Given the description of an element on the screen output the (x, y) to click on. 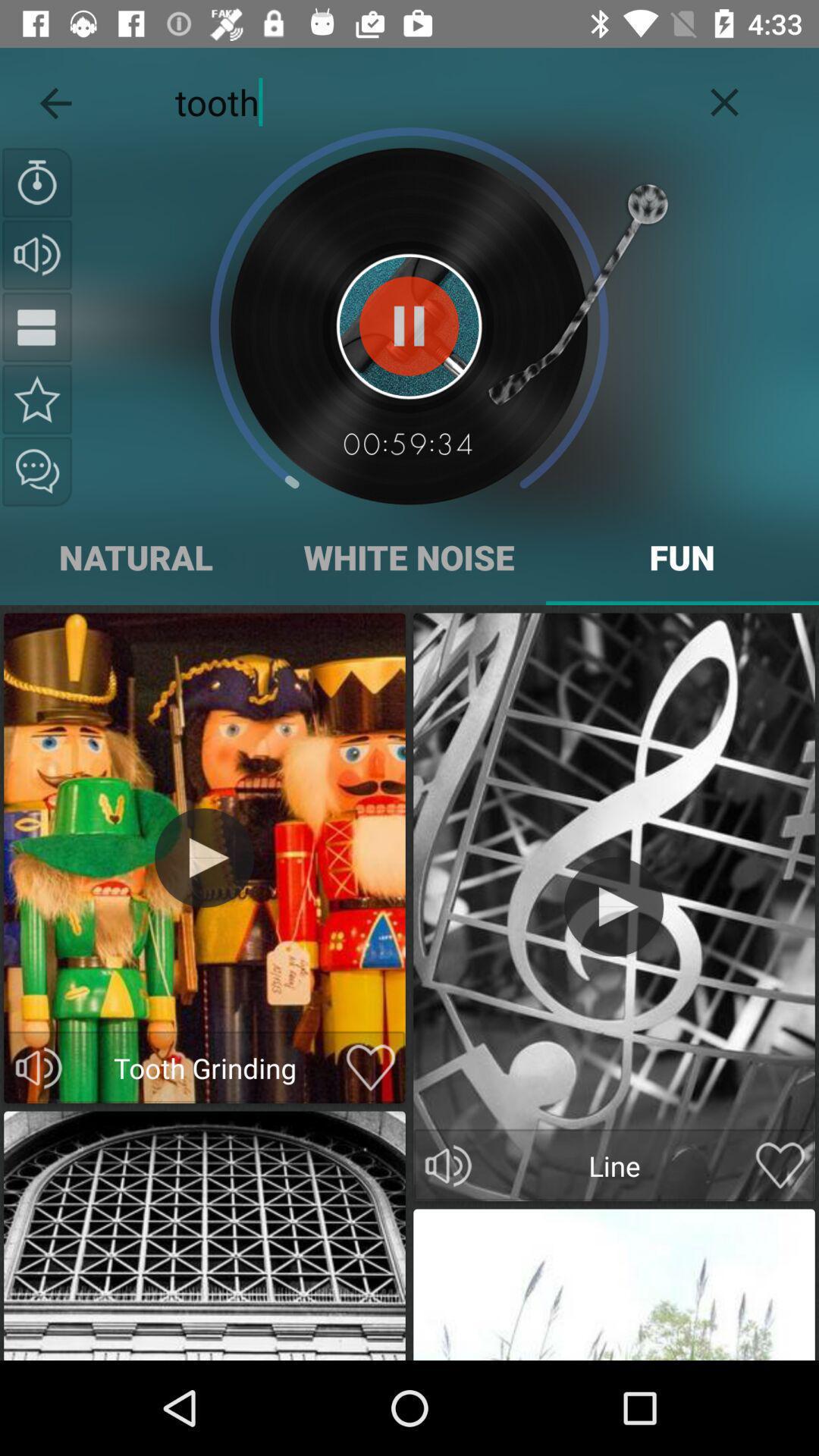
love post button (370, 1067)
